Given the description of an element on the screen output the (x, y) to click on. 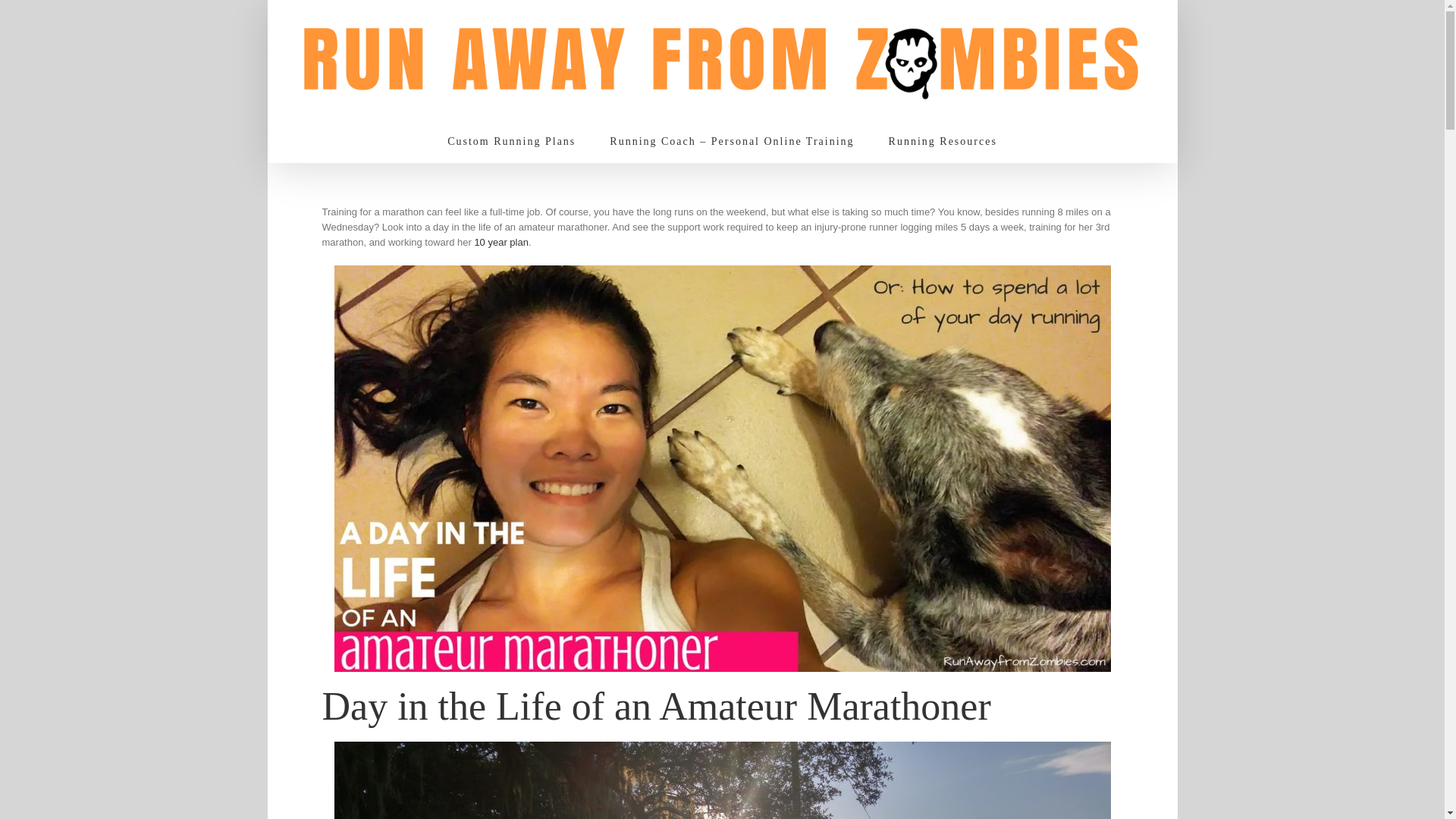
10 year plan (501, 242)
Custom Running Plans (510, 142)
Running Resources (942, 142)
